Given the description of an element on the screen output the (x, y) to click on. 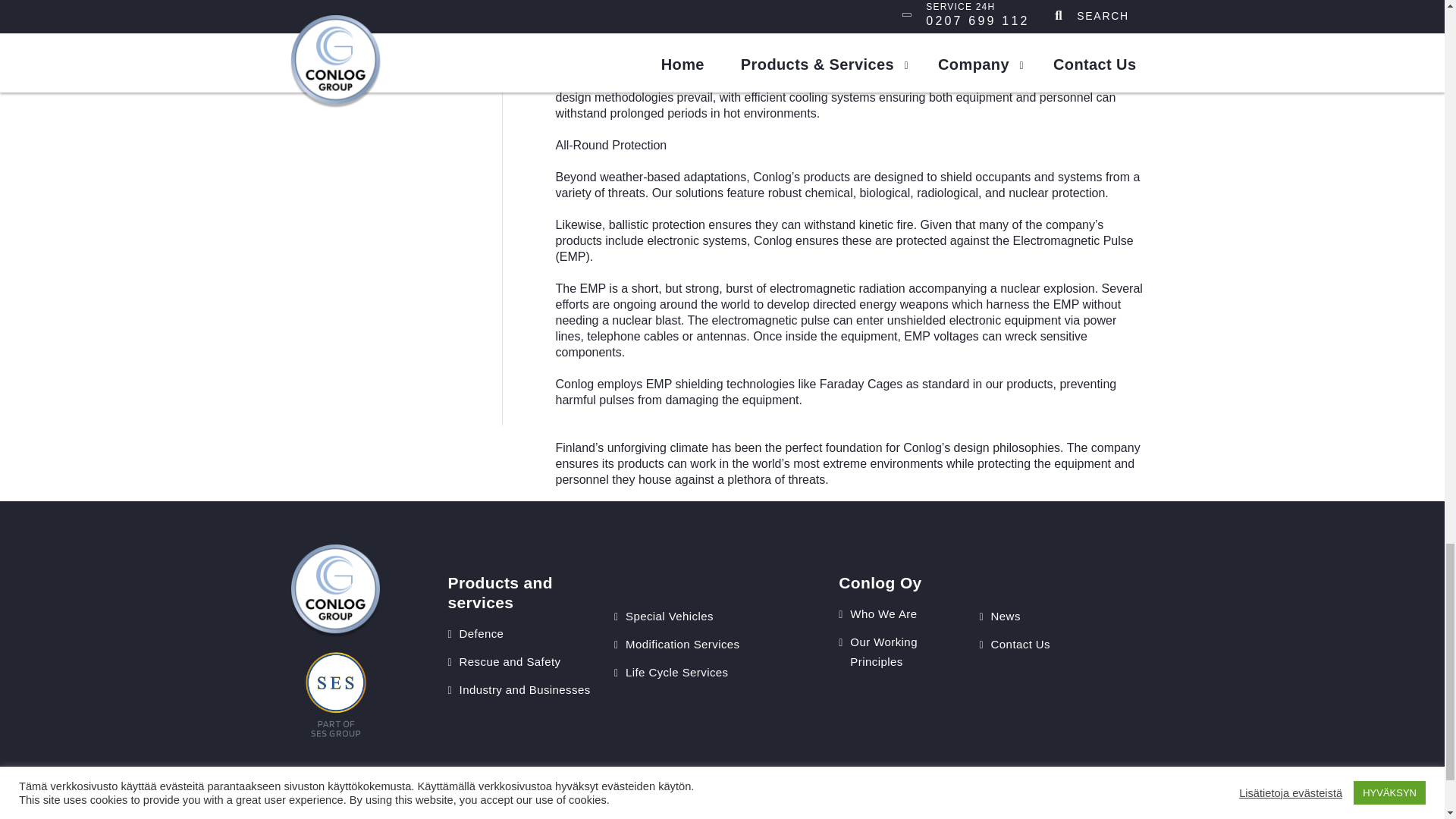
Contact Us (1020, 644)
Our Working Principles (883, 651)
Special Vehicles (669, 615)
Defence (481, 633)
Industry and Businesses (525, 689)
Life Cycle Services (677, 671)
Rescue and Safety (510, 661)
Modification Services (682, 644)
Who We Are (883, 613)
News (1005, 615)
